Given the description of an element on the screen output the (x, y) to click on. 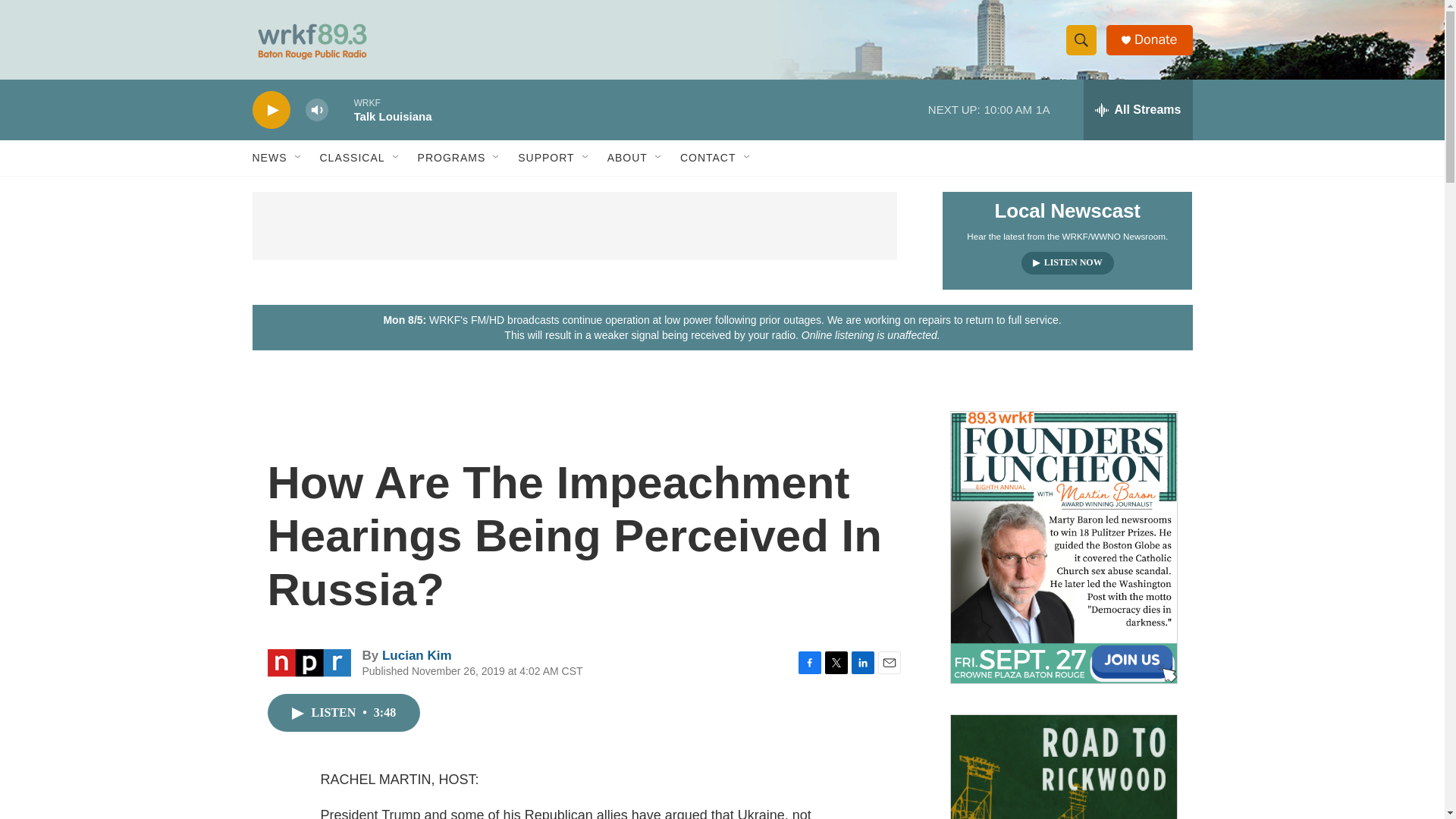
3rd party ad content (574, 225)
